Given the description of an element on the screen output the (x, y) to click on. 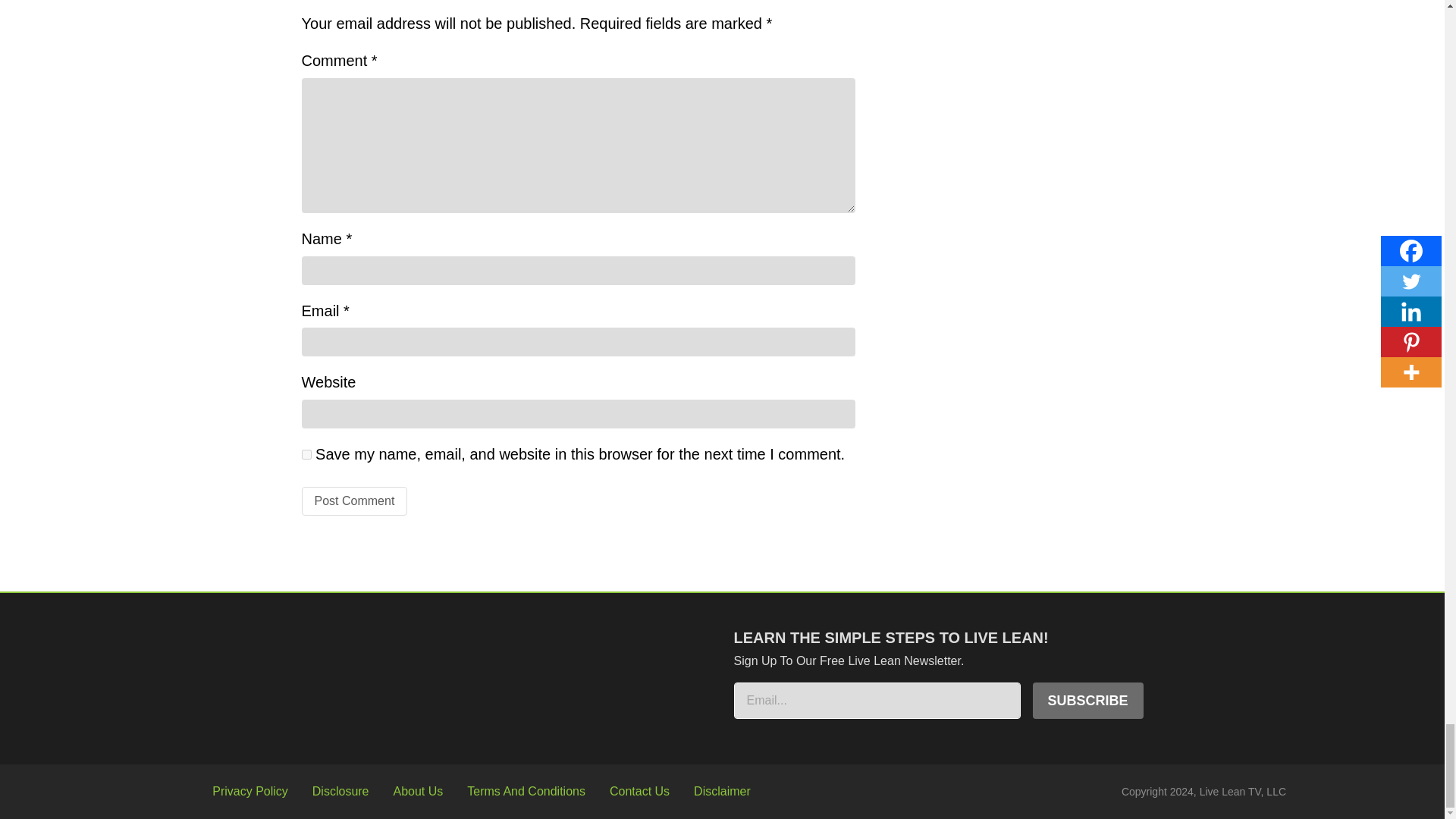
yes (306, 454)
Subscribe (1087, 700)
Post Comment (354, 500)
